Given the description of an element on the screen output the (x, y) to click on. 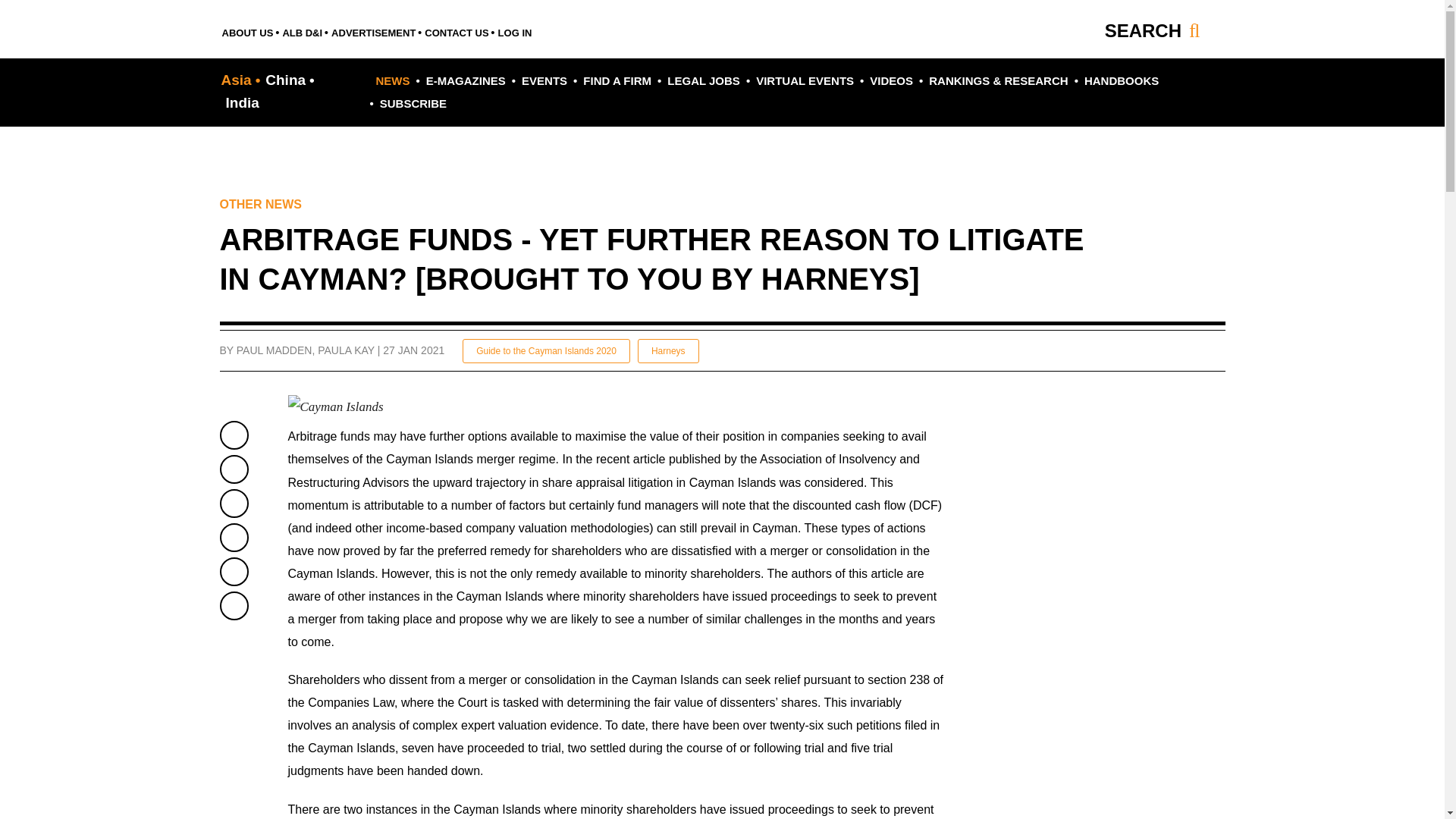
CONTACT US (456, 30)
India (240, 102)
ABOUT US (249, 30)
ADVERTISEMENT (373, 30)
EVENTS (542, 80)
VIDEOS (889, 80)
LEGAL JOBS (701, 80)
China (287, 79)
FIND A FIRM (615, 80)
E-MAGAZINES (462, 80)
HANDBOOKS (1120, 80)
LOG IN (515, 30)
Asia (241, 79)
NEWS (392, 80)
VIRTUAL EVENTS (802, 80)
